Given the description of an element on the screen output the (x, y) to click on. 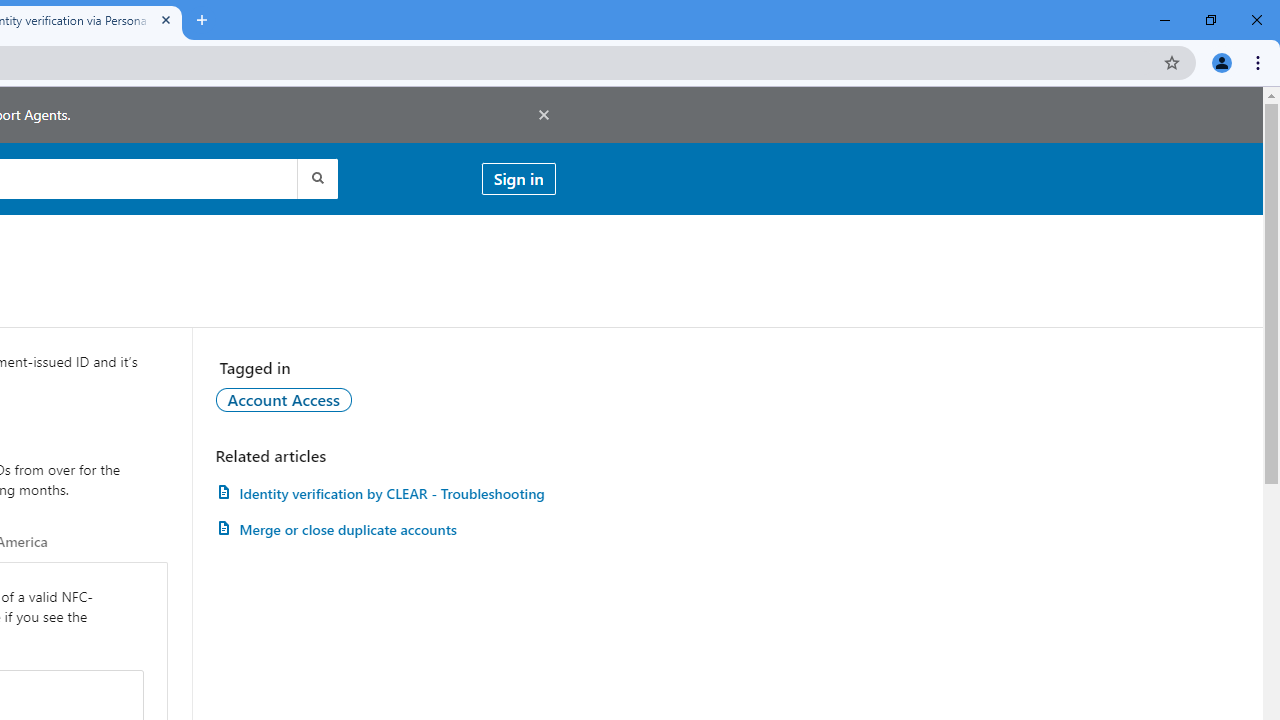
AutomationID: article-link-a1337200 (385, 529)
